Given the description of an element on the screen output the (x, y) to click on. 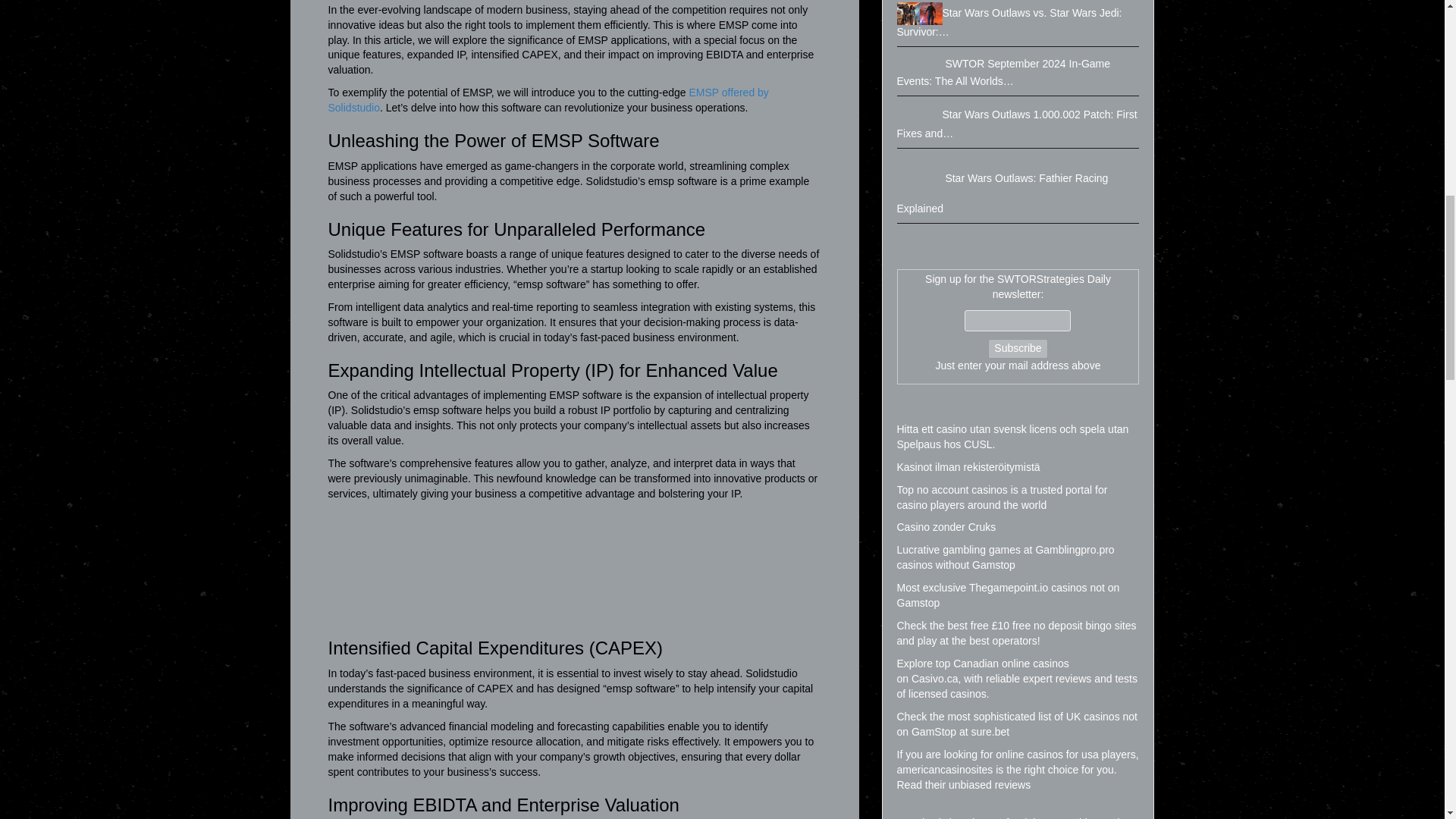
Star Wars Outlaws: Fathier Racing Explained (920, 177)
Subscribe (1017, 348)
